Given the description of an element on the screen output the (x, y) to click on. 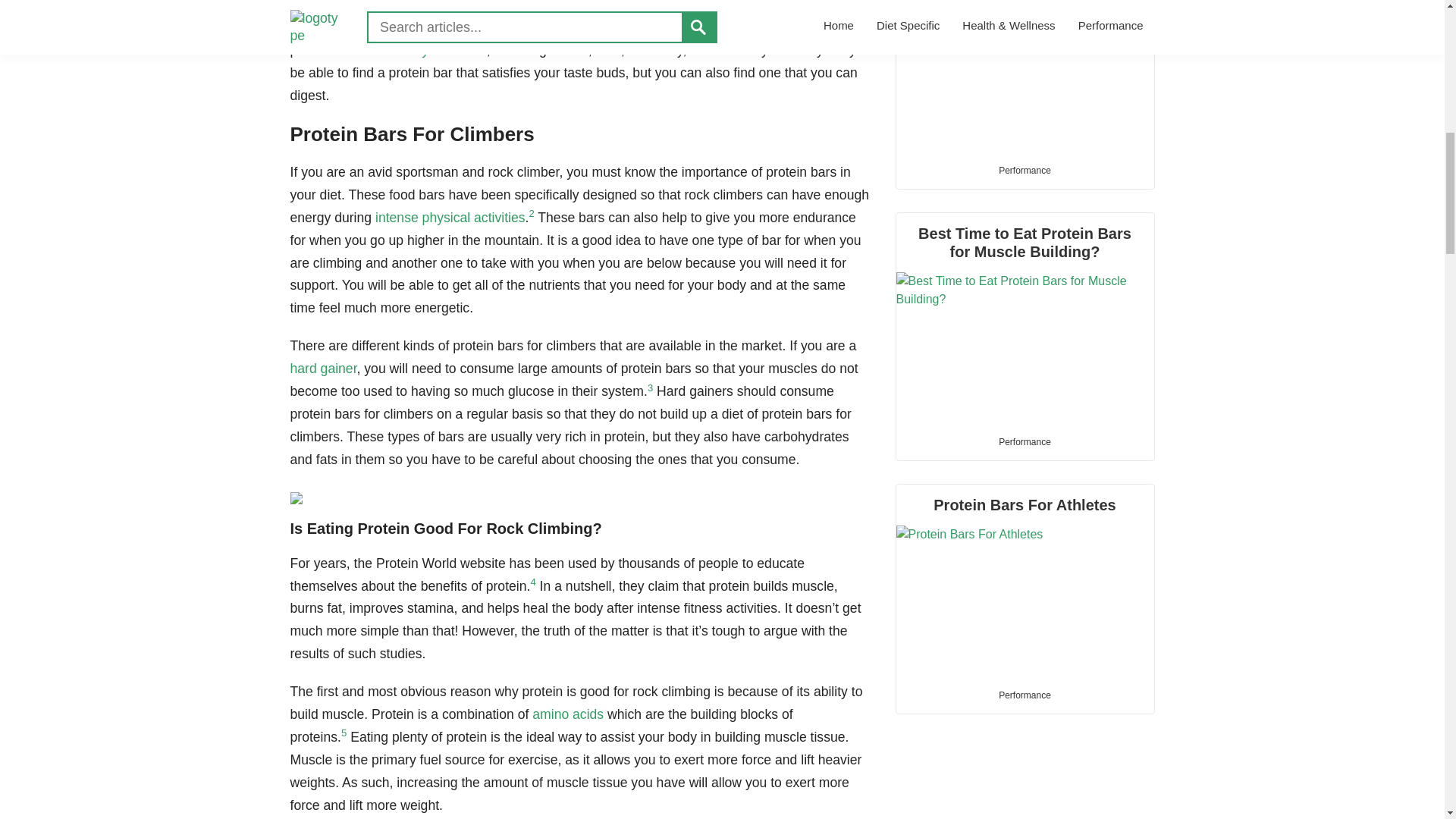
variety of flavors (438, 49)
amino acids (568, 713)
The best protein bars for sports and exercise (1025, 76)
intense physical activities (450, 217)
The best protein bars for sports and exercise - Protein Bars (1025, 76)
Protein Bars For Athletes - Protein Bars (1025, 601)
Best Time to Eat Protein Bars for Muscle Building? (1025, 318)
hard gainer (322, 368)
Protein Bars For Athletes (1025, 580)
